Given the description of an element on the screen output the (x, y) to click on. 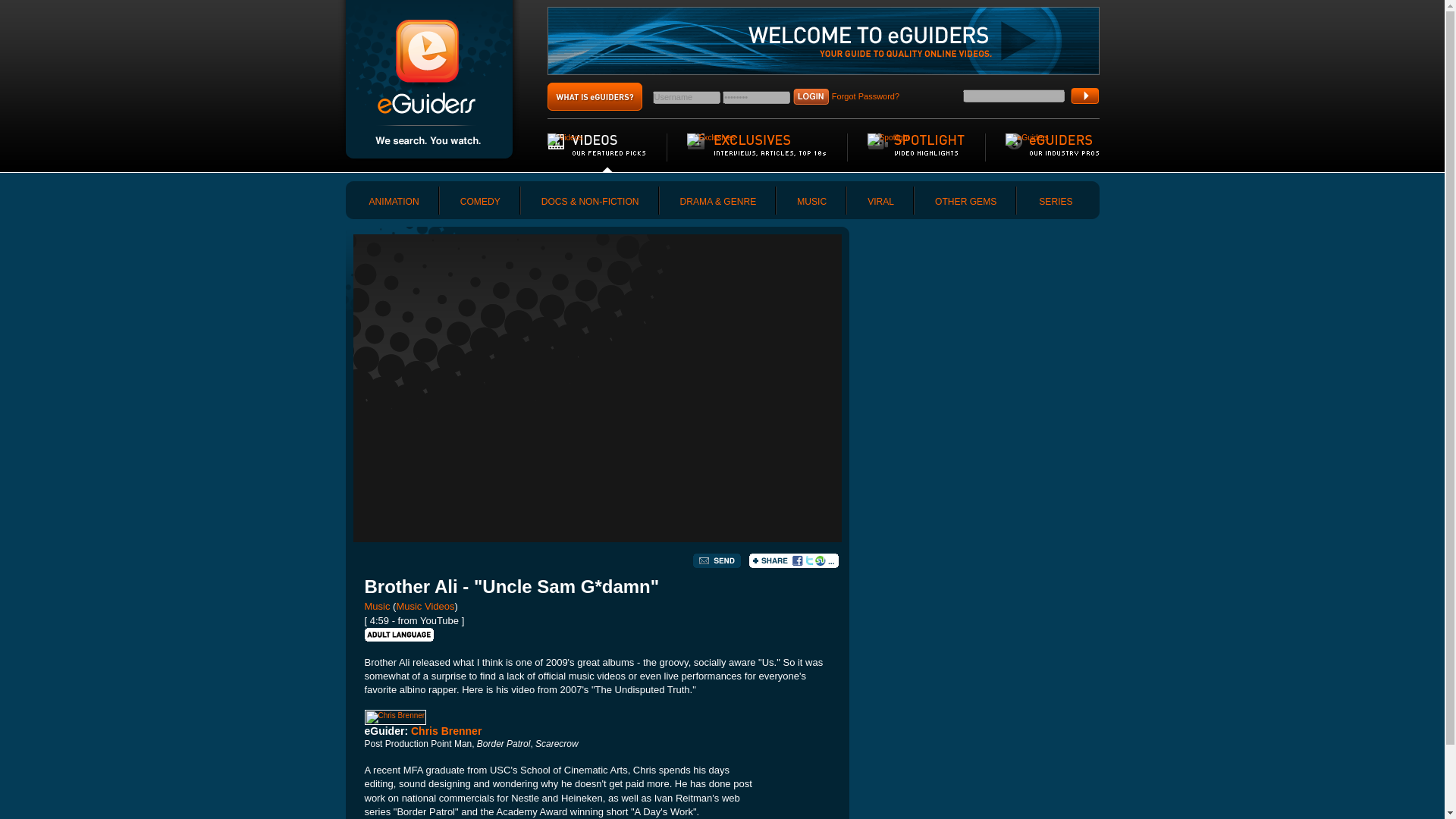
Username (685, 97)
Submit (1084, 95)
Forgot Password? (865, 95)
Password (756, 97)
